Given the description of an element on the screen output the (x, y) to click on. 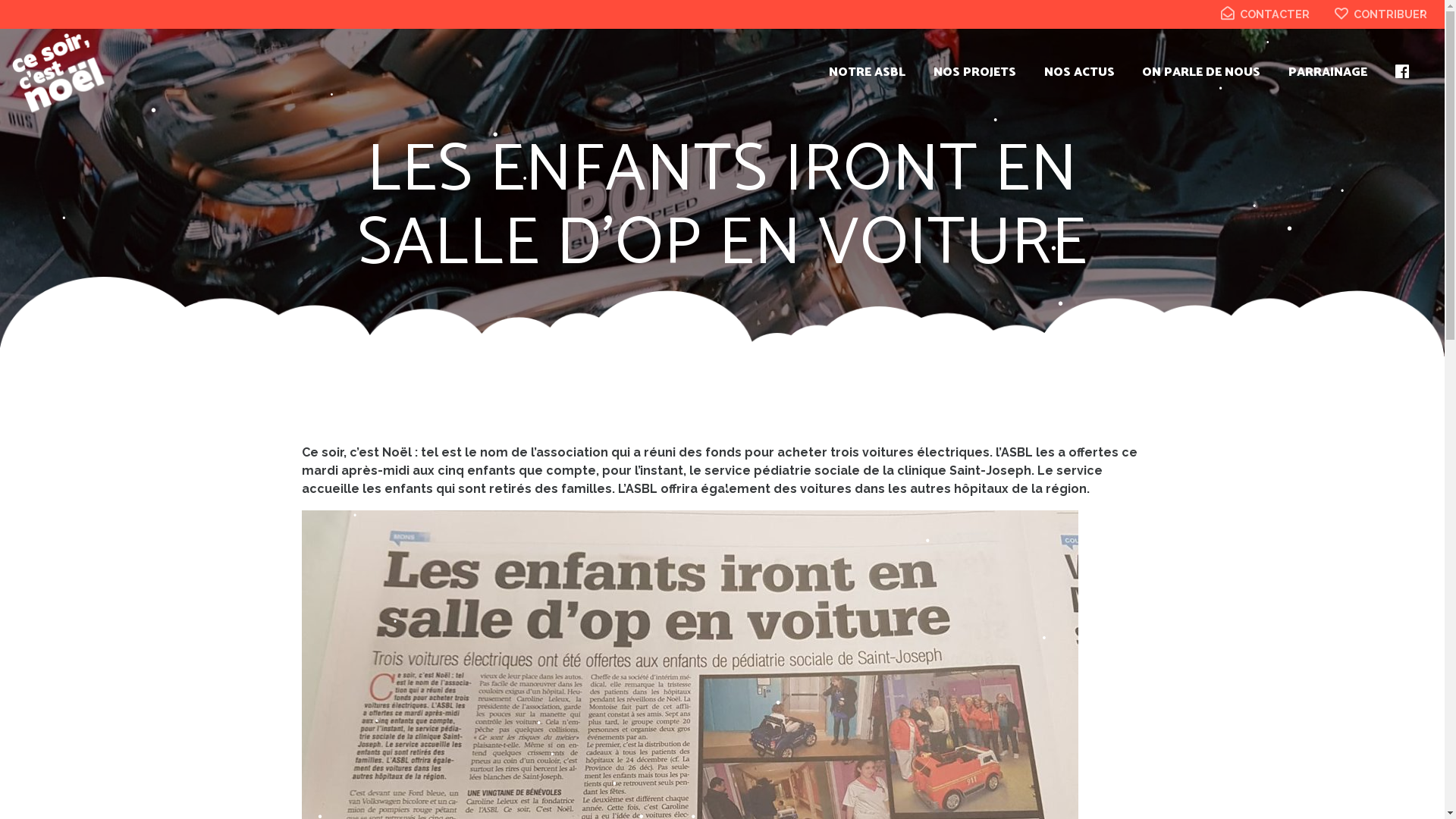
CONTACTER Element type: text (1264, 13)
NOTRE ASBL Element type: text (866, 72)
NOS ACTUS Element type: text (1079, 72)
CONTRIBUER Element type: text (1380, 13)
ON PARLE DE NOUS Element type: text (1200, 72)
NOS PROJETS Element type: text (974, 72)
PARRAINAGE Element type: text (1327, 72)
